Given the description of an element on the screen output the (x, y) to click on. 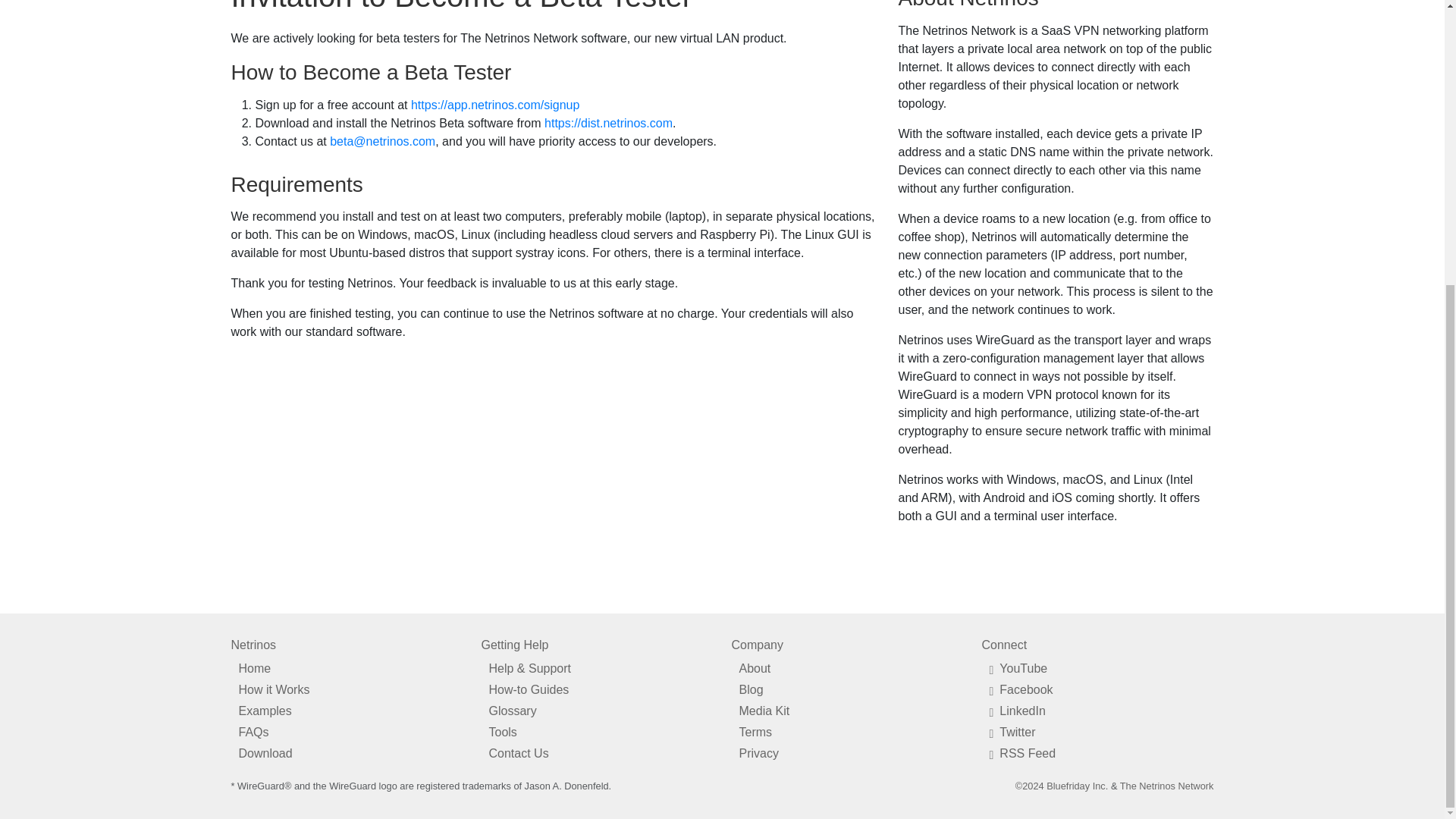
YouTube (1096, 668)
Download (346, 753)
Glossary (596, 711)
Twitter (1096, 731)
How-to Guides (596, 690)
LinkedIn (1096, 711)
About (846, 668)
Privacy (846, 753)
FAQs (346, 731)
RSS Feed (1096, 753)
Media Kit (846, 711)
Terms (846, 731)
Facebook (1096, 690)
How it Works (346, 690)
The Netrinos Network (1166, 785)
